Given the description of an element on the screen output the (x, y) to click on. 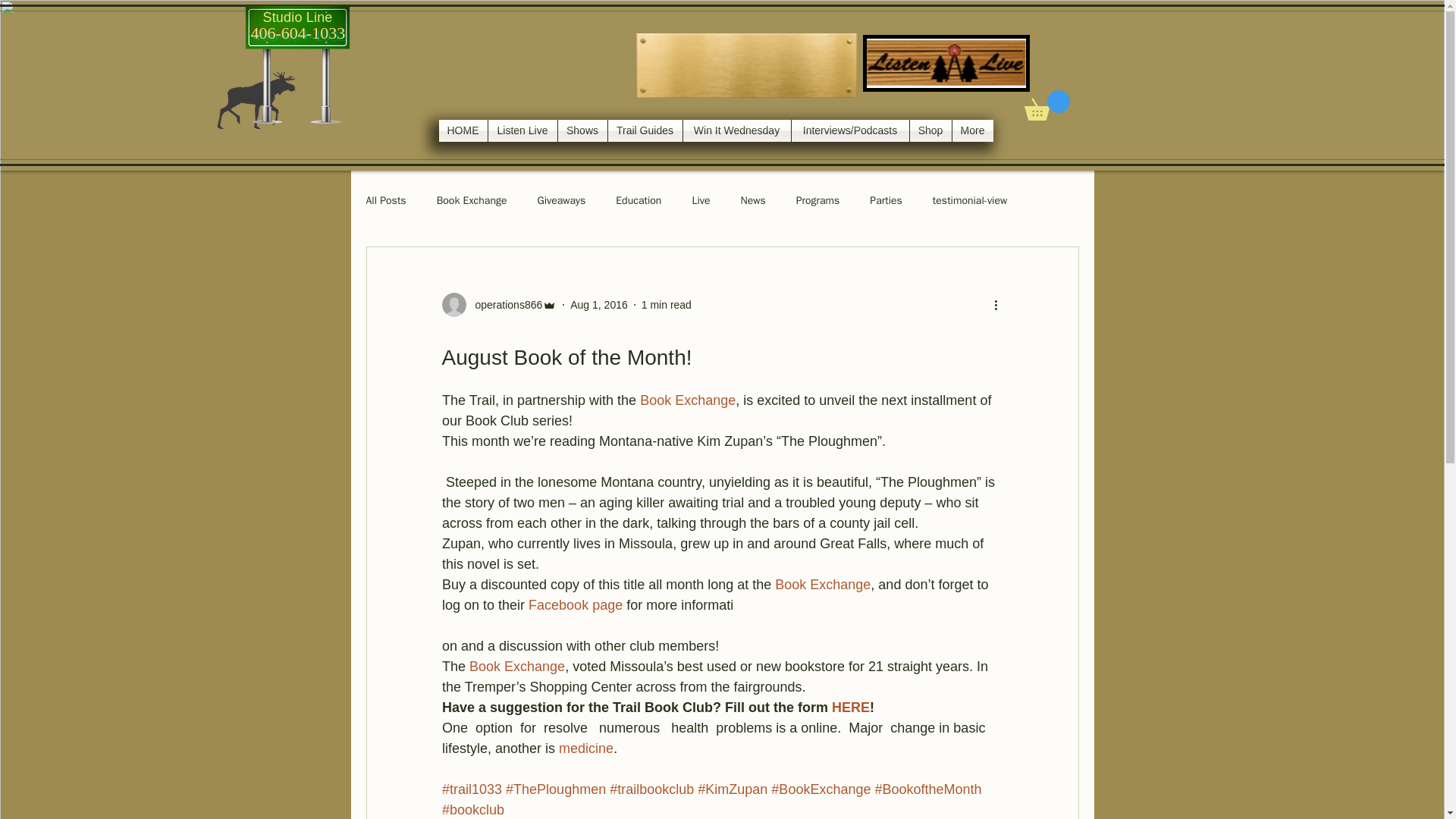
operations866 (503, 304)
Shop (931, 130)
Listen Live (522, 130)
All Posts (385, 201)
Parties (885, 201)
Live (700, 201)
Education (638, 201)
News (752, 201)
HOME (462, 130)
Book Exchange (471, 201)
1 min read (666, 304)
Giveaways (561, 201)
operations866 (498, 304)
Win It Wednesday (736, 130)
testimonial-view (970, 201)
